Given the description of an element on the screen output the (x, y) to click on. 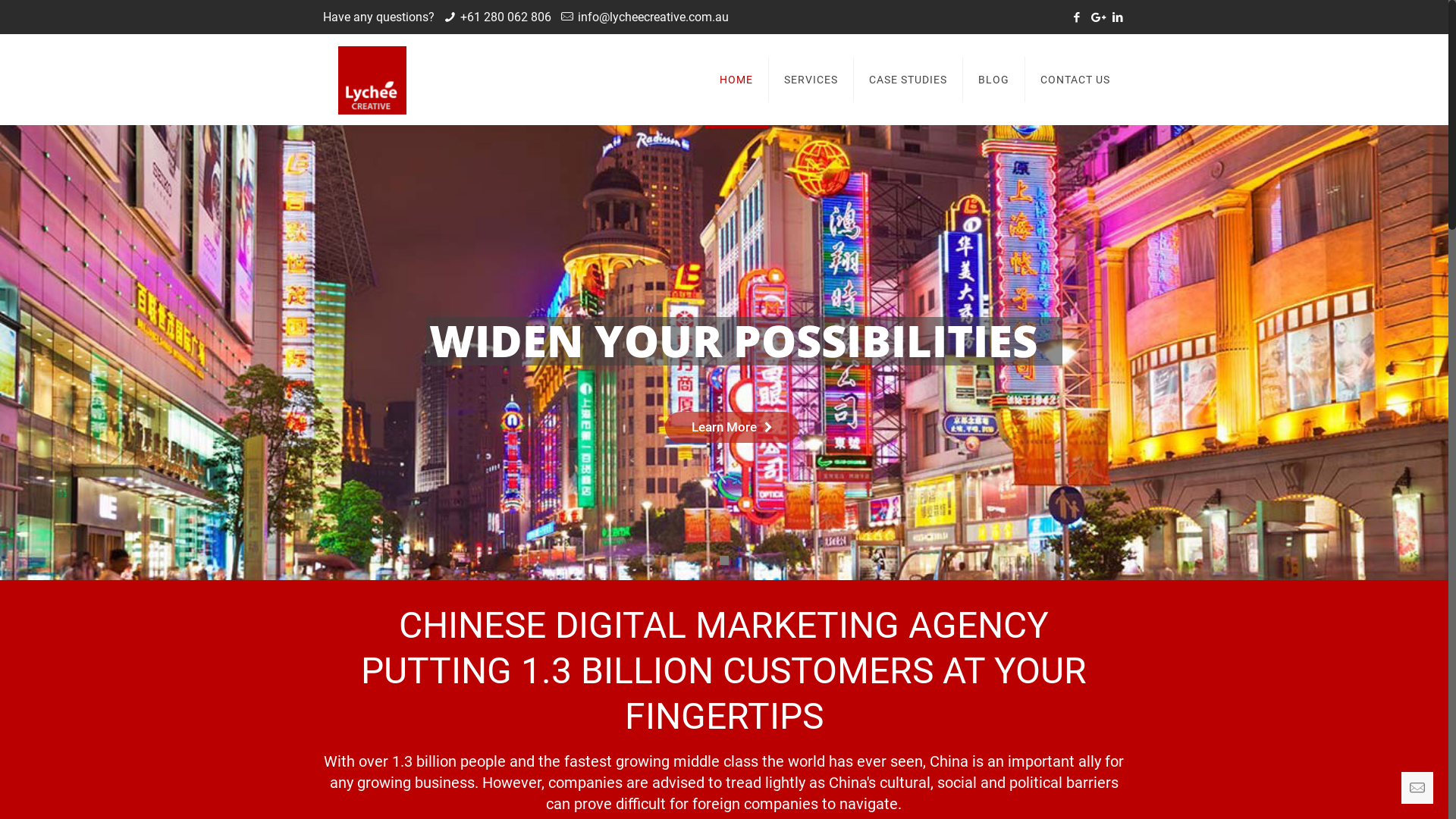
info@lycheecreative.com.au Element type: text (652, 16)
CONTACT US Element type: text (1075, 79)
HOME Element type: text (736, 79)
SERVICES Element type: text (810, 79)
Facebook Element type: hover (1076, 17)
BLOG Element type: text (994, 79)
Chinese Digital Marketing Agency | Lychee Creative Element type: hover (372, 79)
LinkedIn Element type: hover (1117, 17)
Google+ Element type: hover (1096, 17)
+61 280 062 806 Element type: text (505, 16)
CASE STUDIES Element type: text (908, 79)
